Given the description of an element on the screen output the (x, y) to click on. 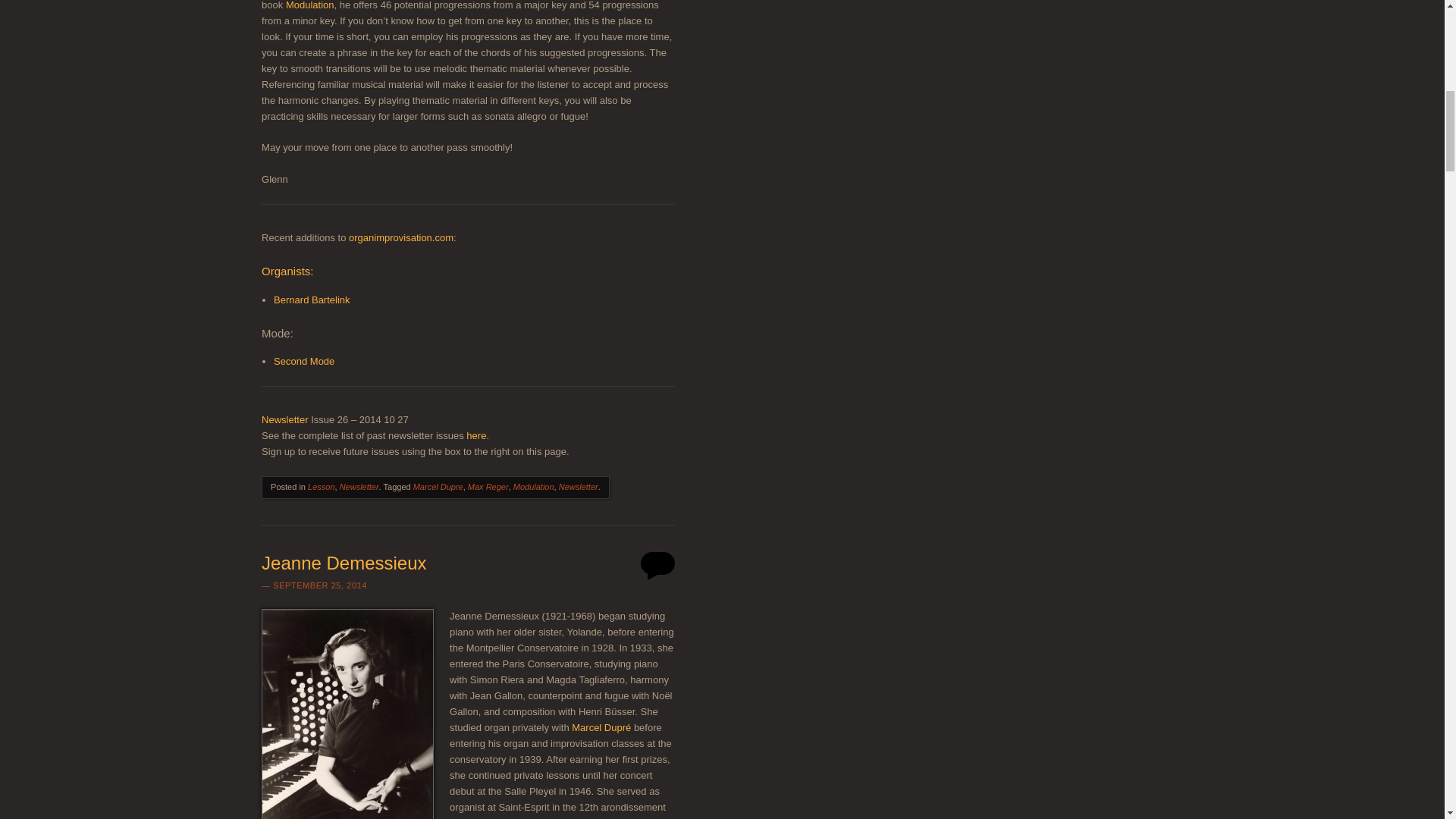
Second Mode (303, 360)
organimprovisation.com (400, 237)
Organists (287, 270)
Newsletter Issues (284, 419)
Bernard Bartelink (311, 299)
Newsletter Issues (475, 435)
